Given the description of an element on the screen output the (x, y) to click on. 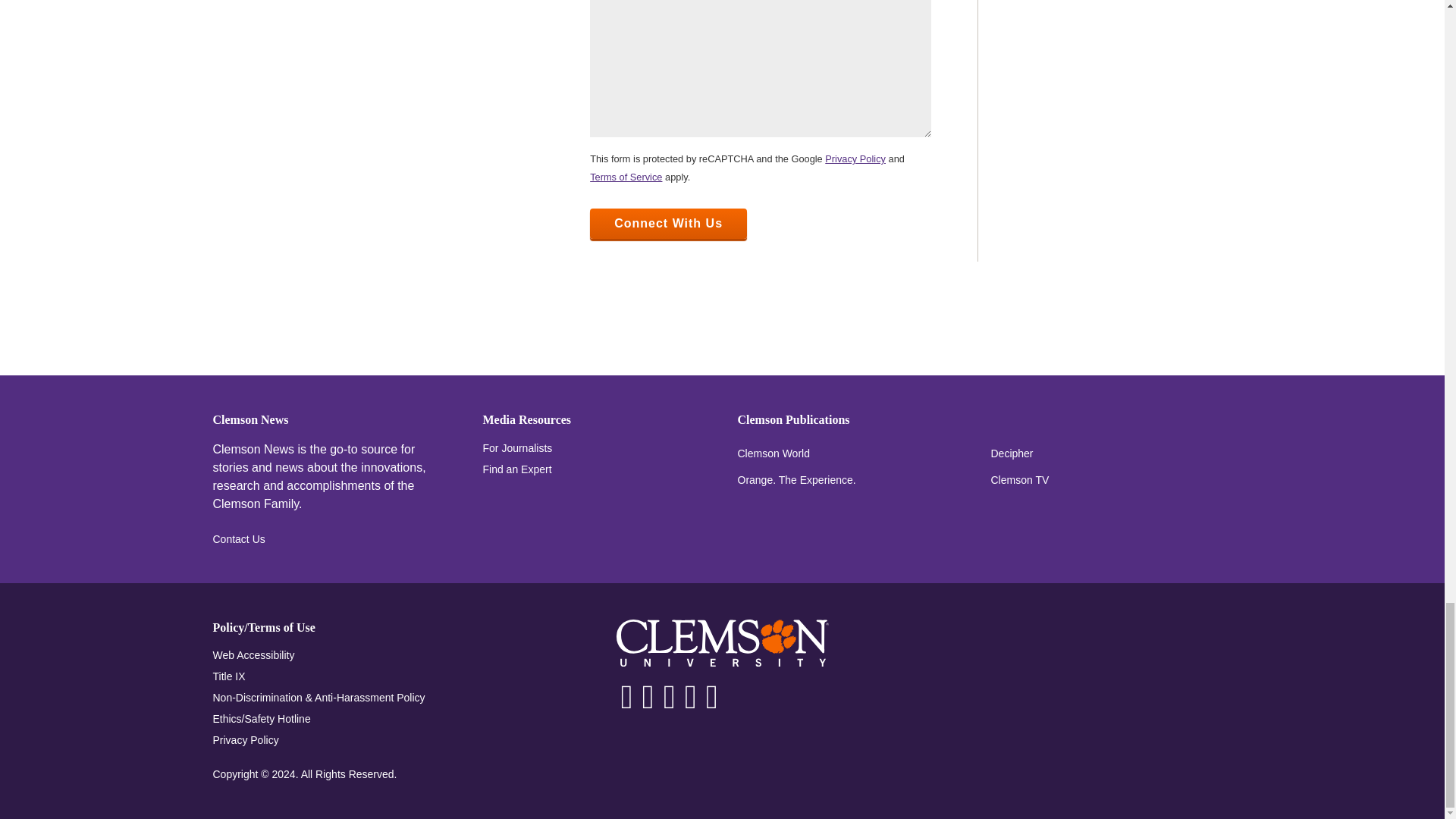
Connect With Us (667, 223)
Clemson University (721, 642)
